Given the description of an element on the screen output the (x, y) to click on. 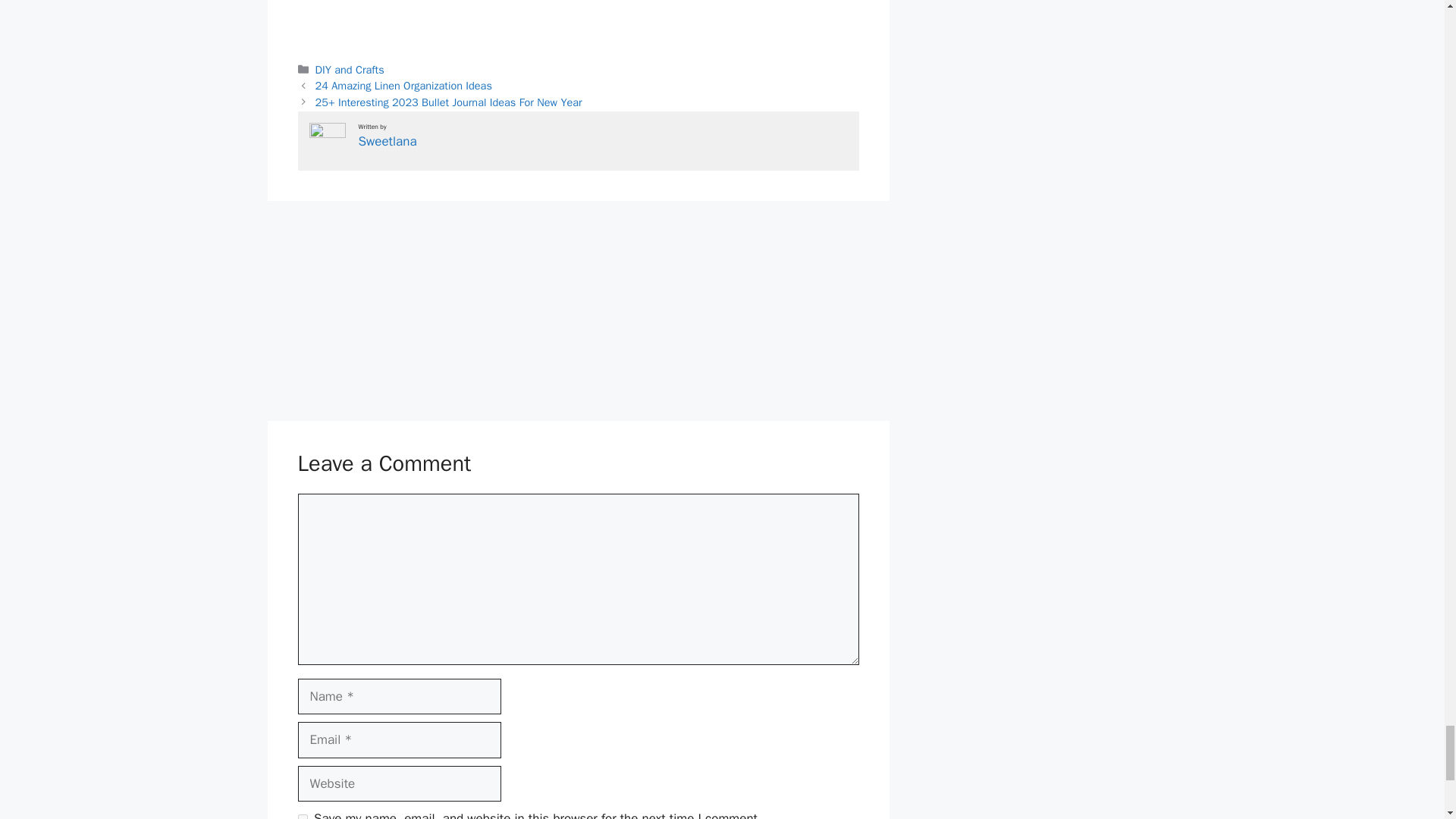
yes (302, 816)
